Given the description of an element on the screen output the (x, y) to click on. 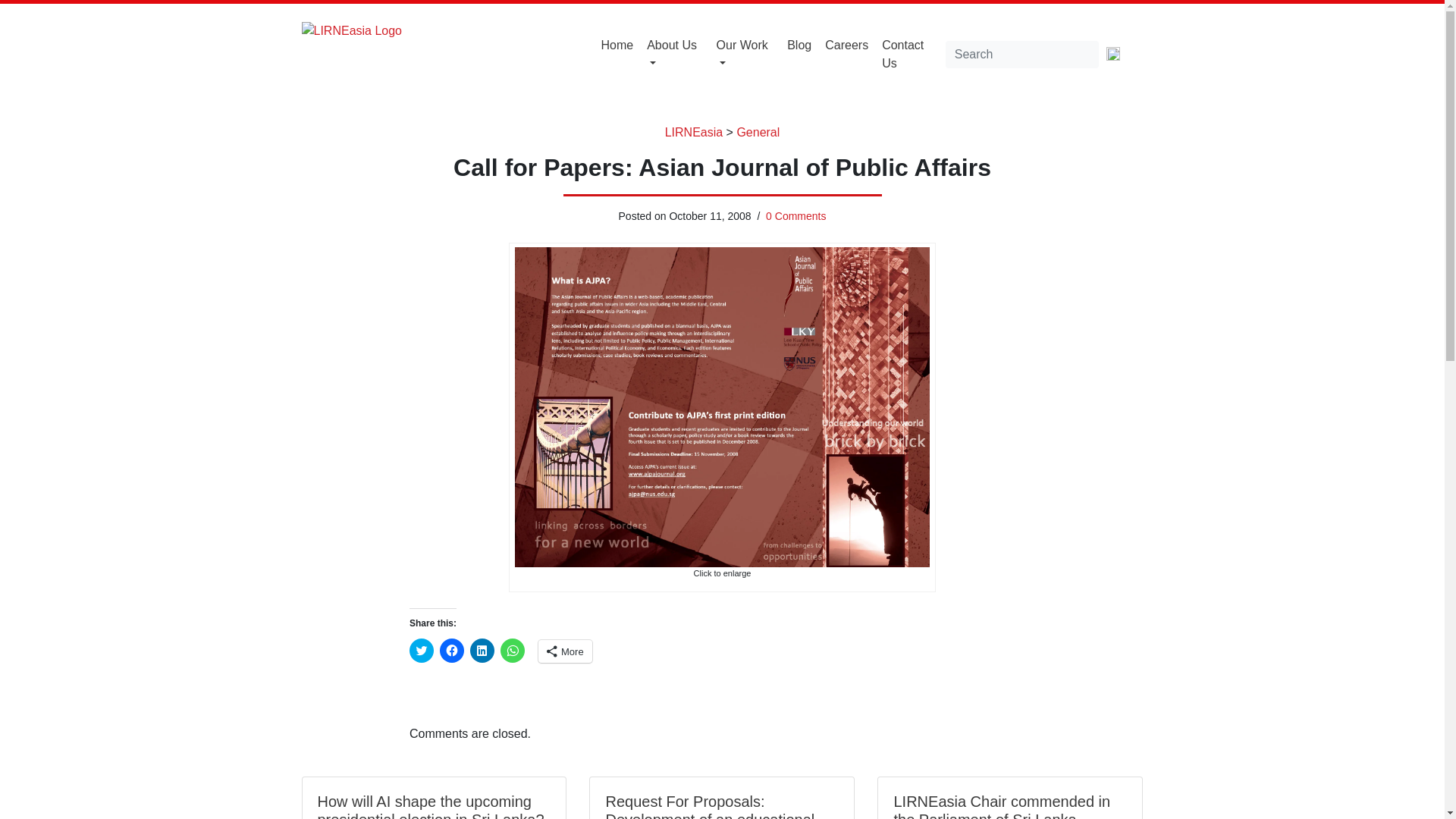
Careers (846, 45)
Home (617, 45)
Blog (799, 45)
Careers (846, 45)
Blog (799, 45)
About Us (674, 54)
Home (617, 45)
LIRNEasia (693, 132)
Our Work (745, 54)
Contact us (909, 54)
Contact Us (909, 54)
About us (674, 54)
Our Work (745, 54)
0 Comments (795, 215)
General (757, 132)
